Given the description of an element on the screen output the (x, y) to click on. 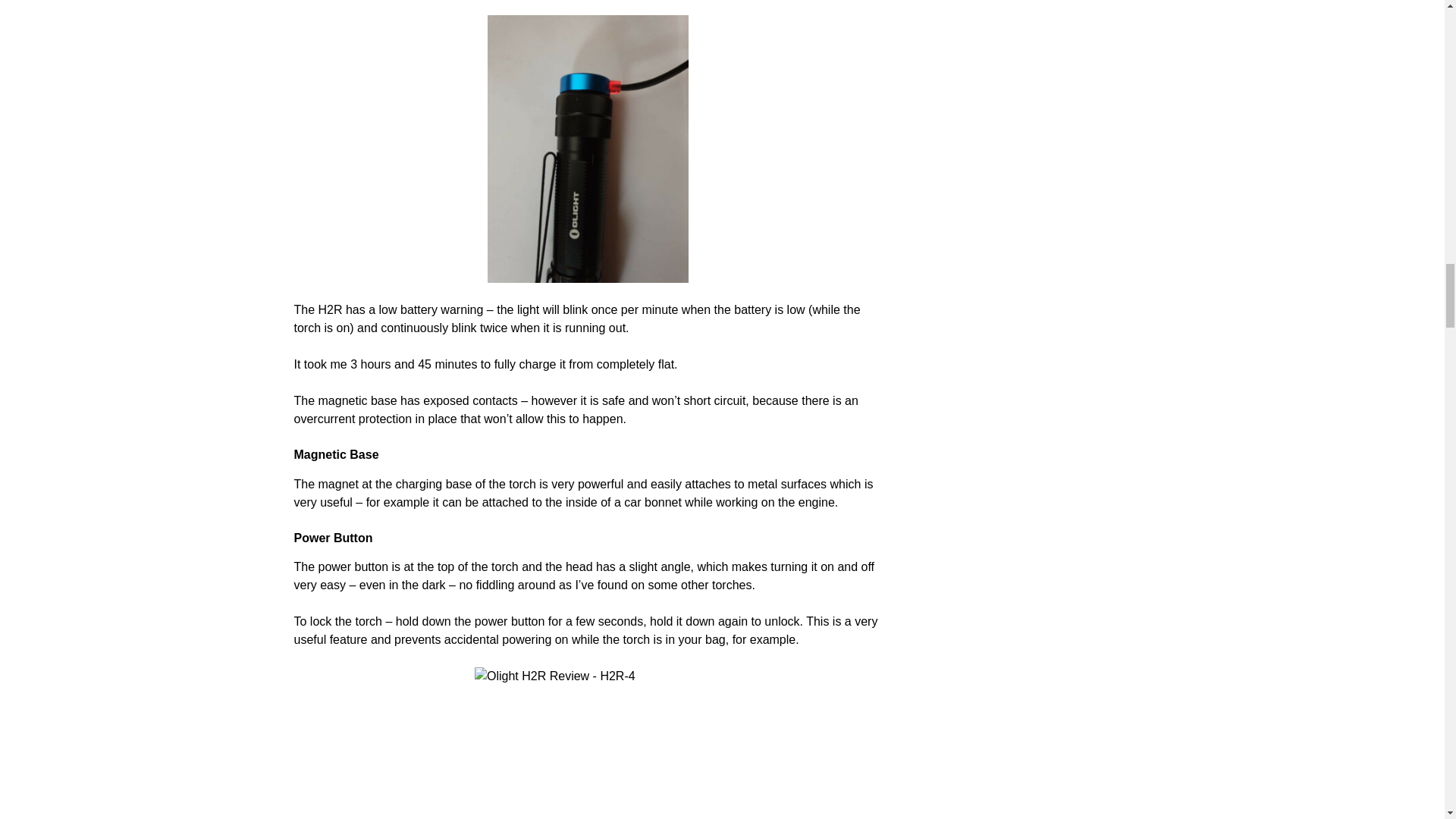
Olight H2R Review - Charging Light Red (587, 148)
Olight H2R Review - H2R-4 (587, 743)
